Given the description of an element on the screen output the (x, y) to click on. 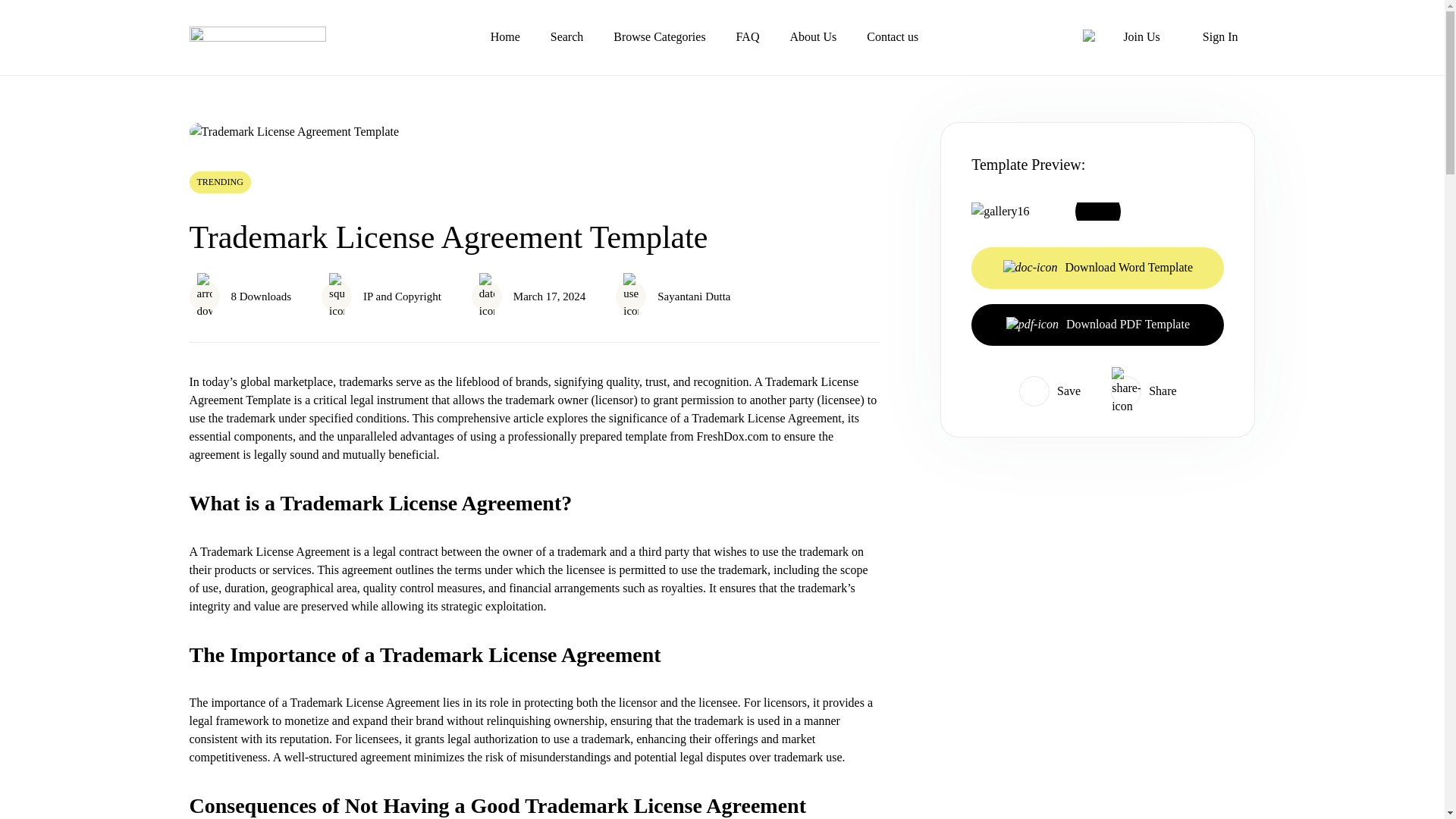
Join Us (1140, 37)
Join Us (1140, 37)
Browse Categories (658, 36)
Sign In (1220, 37)
Sign In (1220, 37)
